Given the description of an element on the screen output the (x, y) to click on. 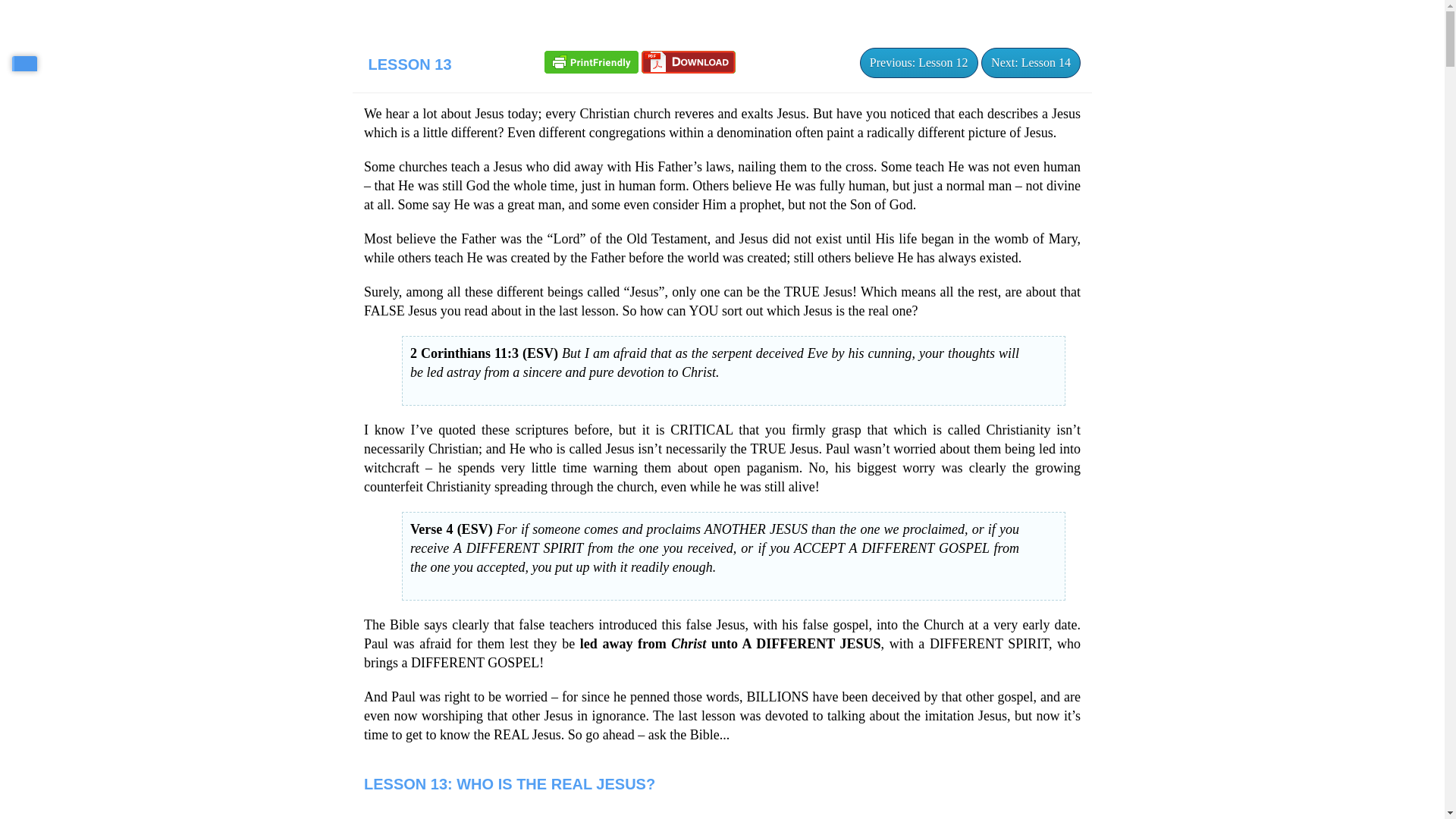
Printer Friendly and PDF (591, 60)
